Given the description of an element on the screen output the (x, y) to click on. 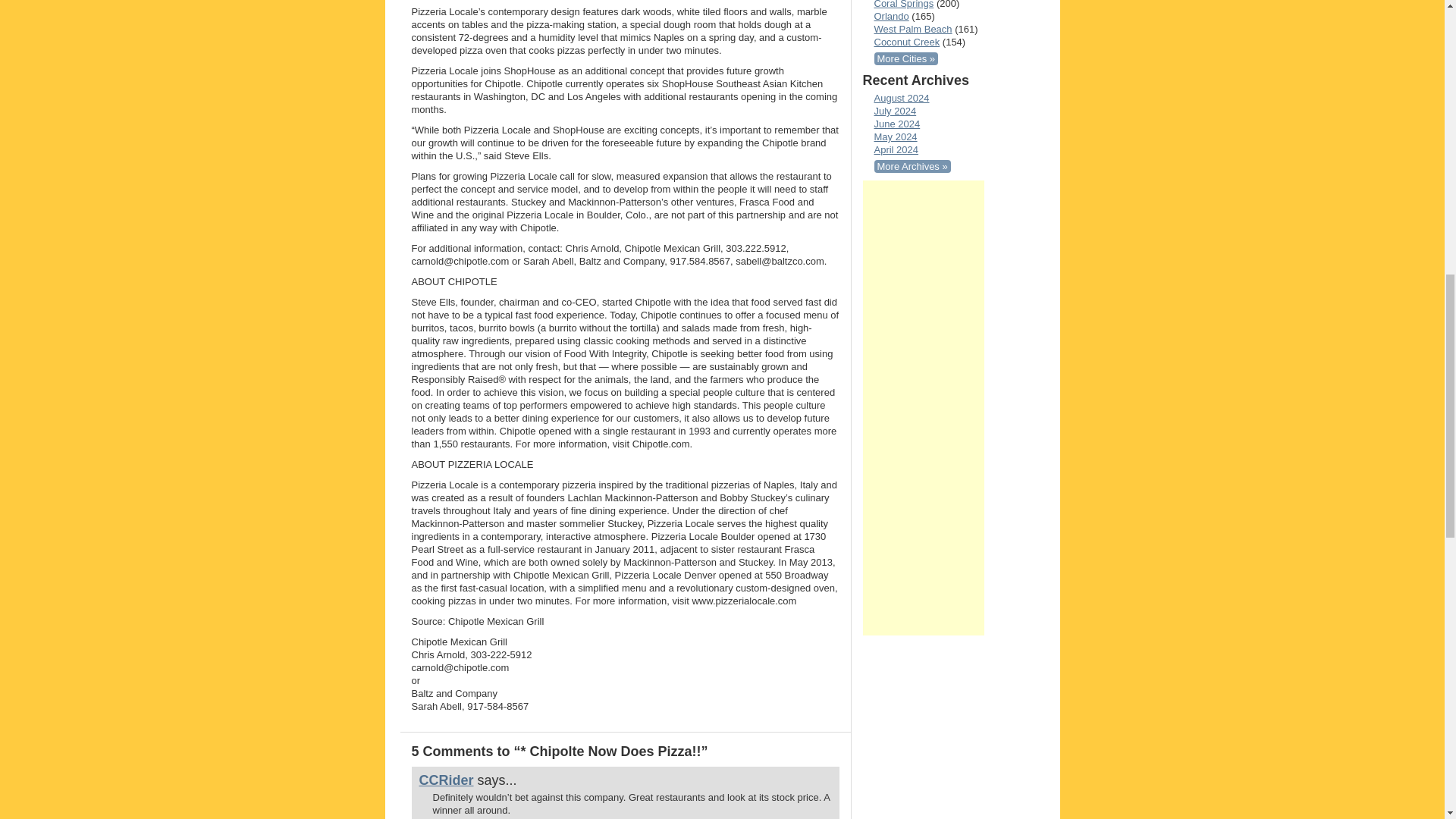
CCRider (446, 780)
